Given the description of an element on the screen output the (x, y) to click on. 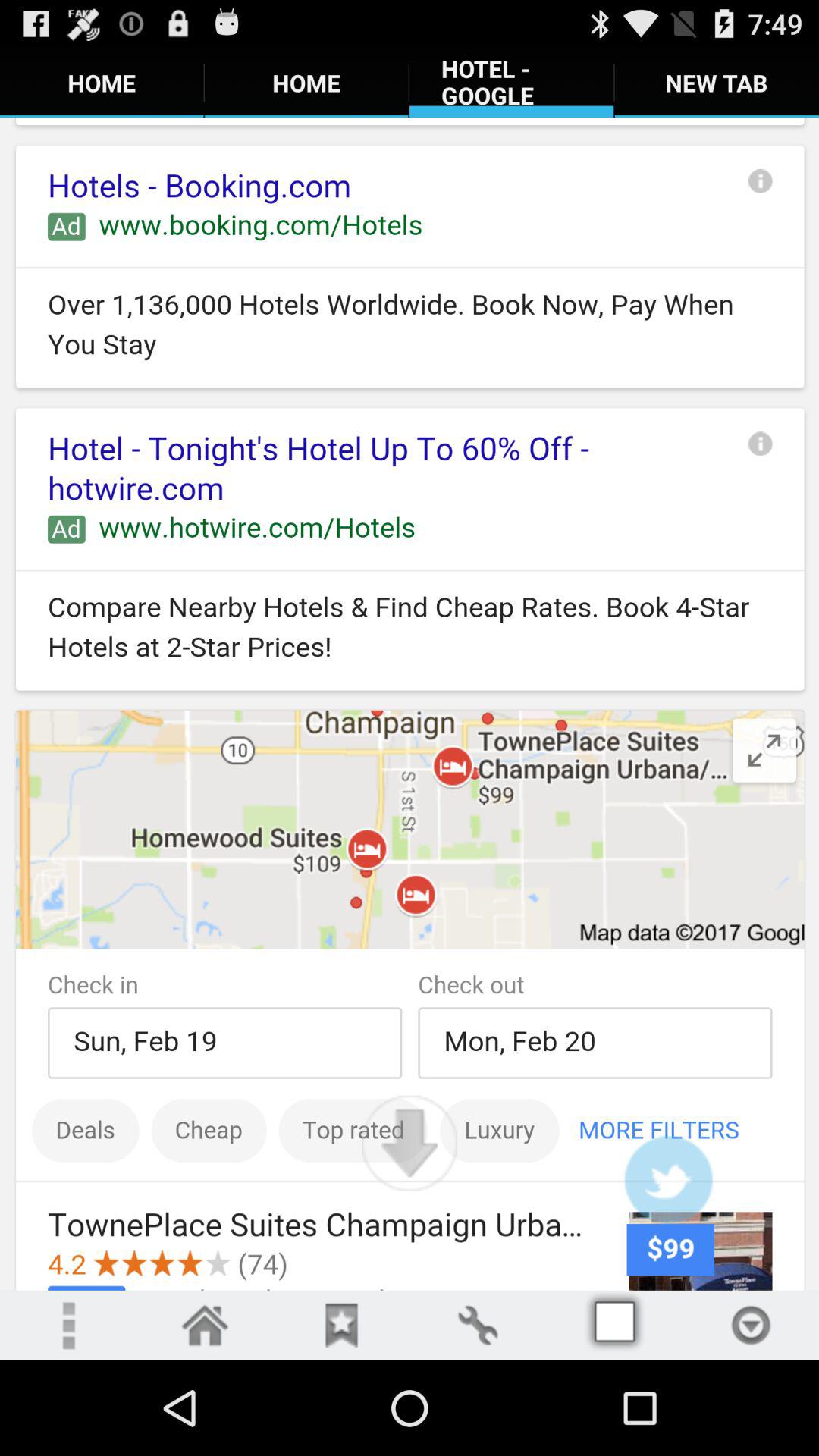
go to twitter (668, 1179)
